Given the description of an element on the screen output the (x, y) to click on. 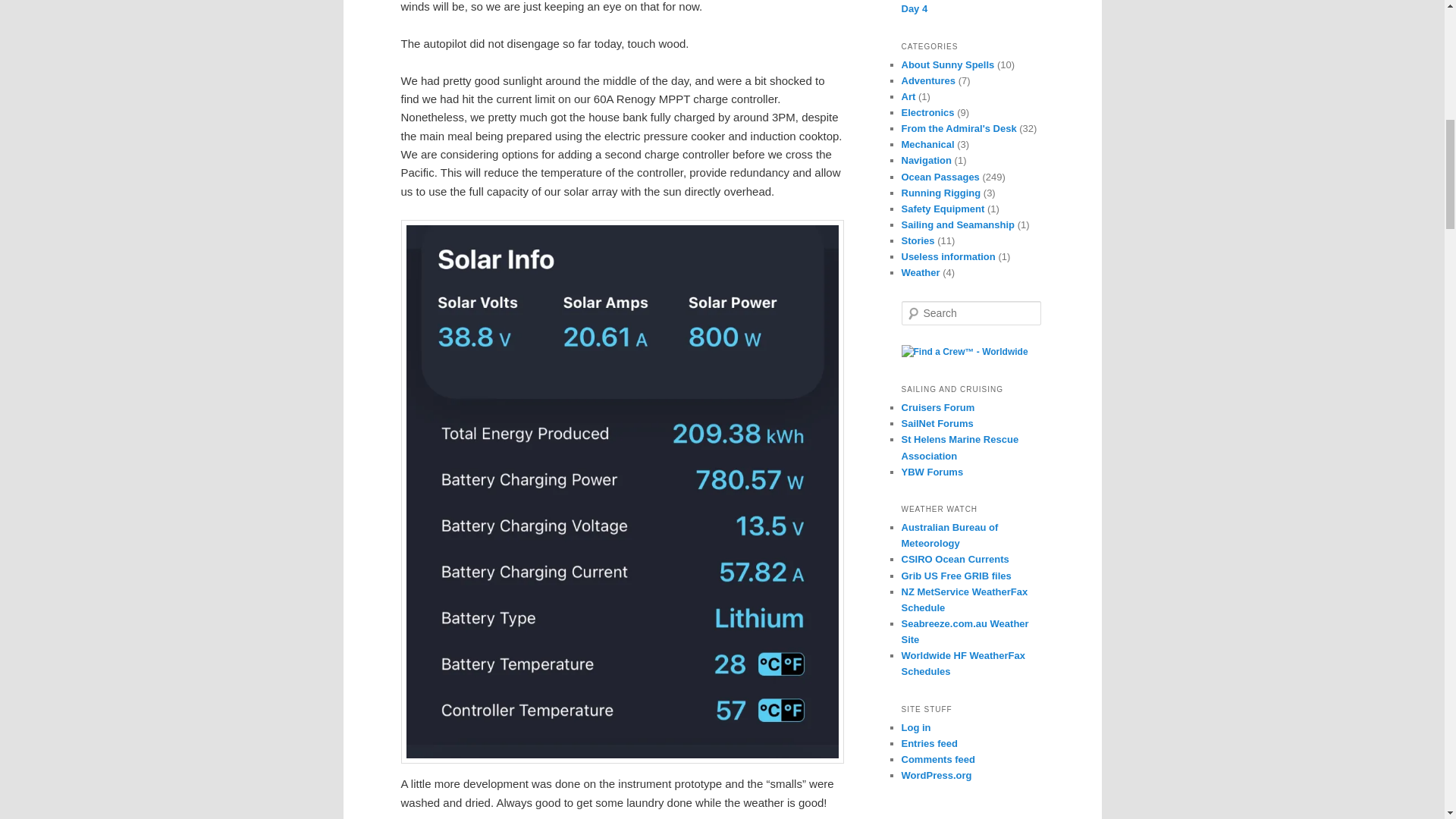
Las Palmas to Cabo Verde, Day 4 (963, 7)
About Sunny Spells (947, 64)
Adventures (928, 80)
